Given the description of an element on the screen output the (x, y) to click on. 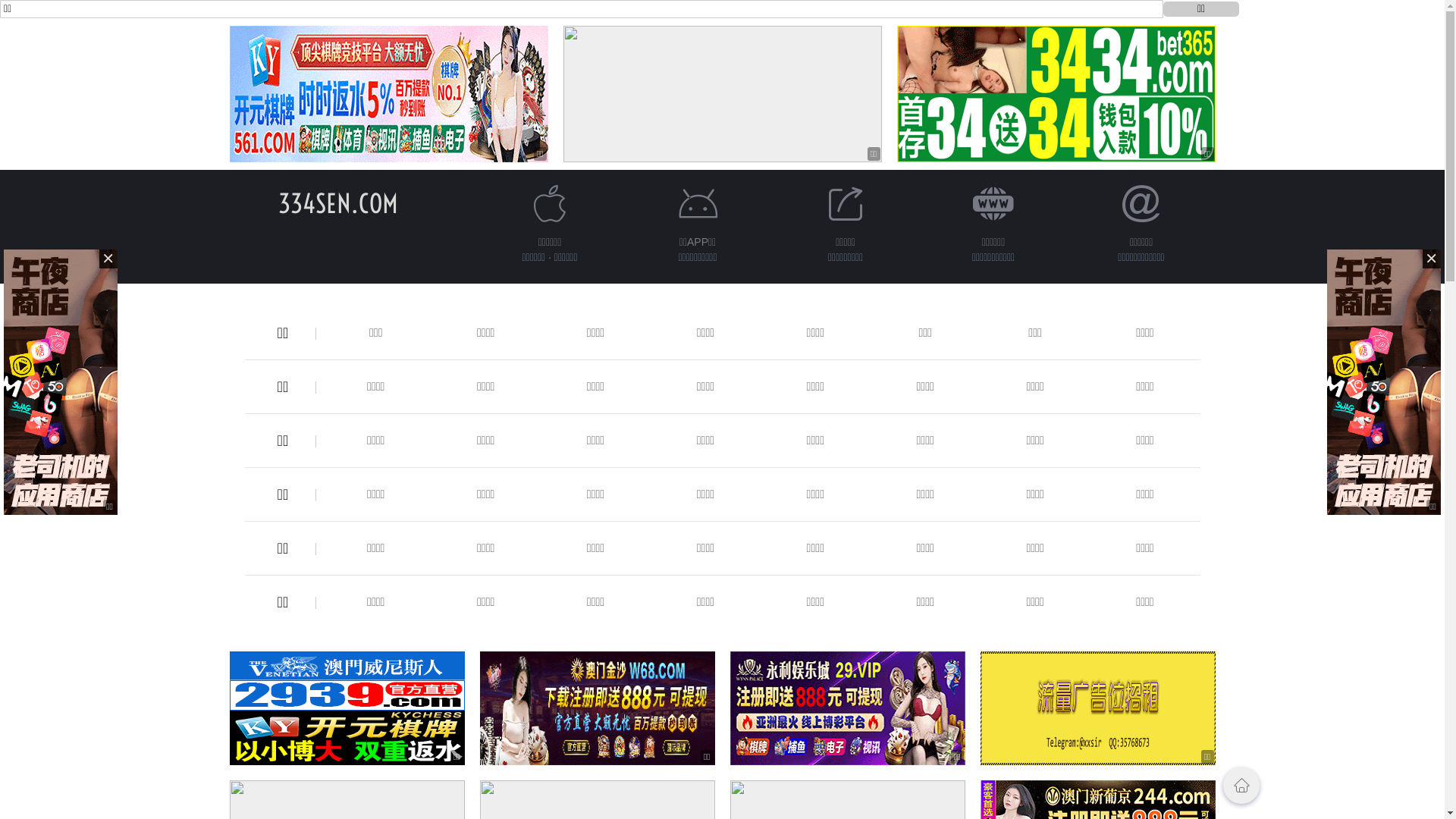
334SEN.COM Element type: text (337, 203)
